Given the description of an element on the screen output the (x, y) to click on. 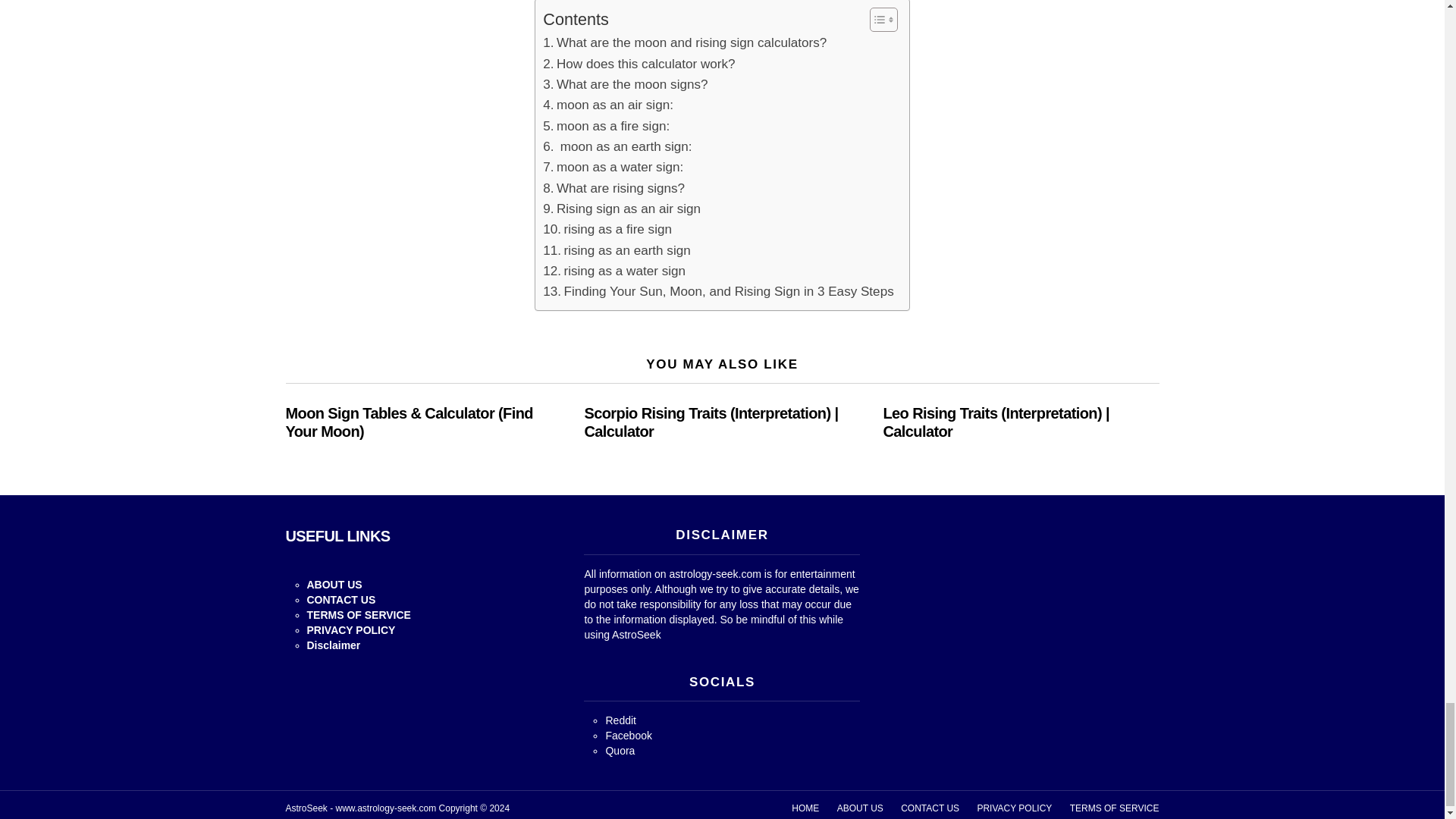
Rising sign as an air sign (621, 209)
rising as a fire sign (607, 229)
moon as a water sign: (612, 167)
moon as an air sign: (607, 105)
What are rising signs? (613, 188)
What are the moon and rising sign calculators? (685, 42)
moon as a fire sign: (606, 126)
What are the moon signs? (625, 84)
How does this calculator work? (639, 63)
